Given the description of an element on the screen output the (x, y) to click on. 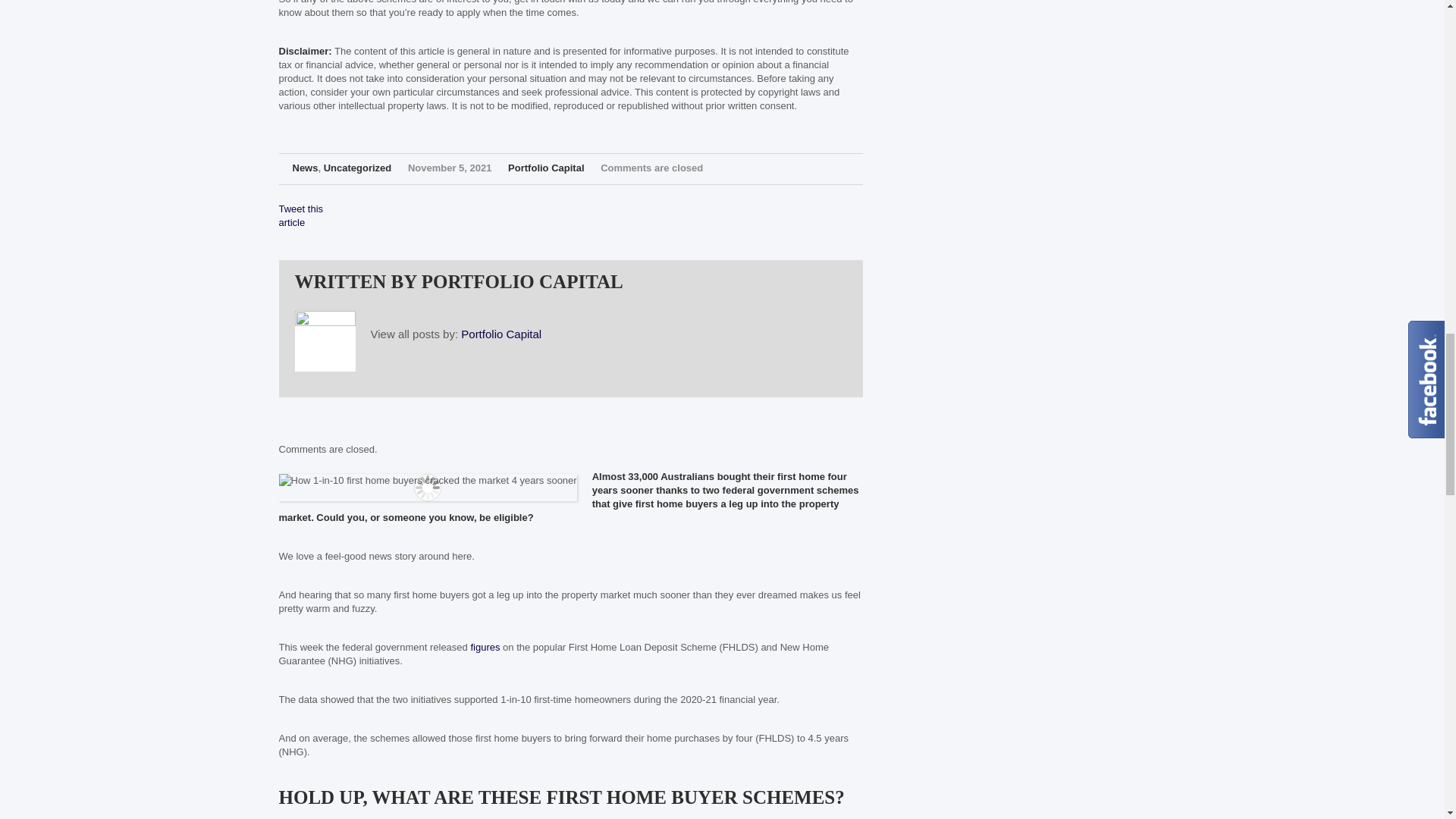
figures (484, 646)
PORTFOLIO CAPITAL (522, 281)
Tweet this article (301, 215)
Posts by Portfolio Capital (522, 281)
Posts by Portfolio Capital (501, 333)
Portfolio Capital (545, 167)
News (305, 167)
Uncategorized (357, 167)
Posts by Portfolio Capital (545, 167)
Portfolio Capital (501, 333)
